Given the description of an element on the screen output the (x, y) to click on. 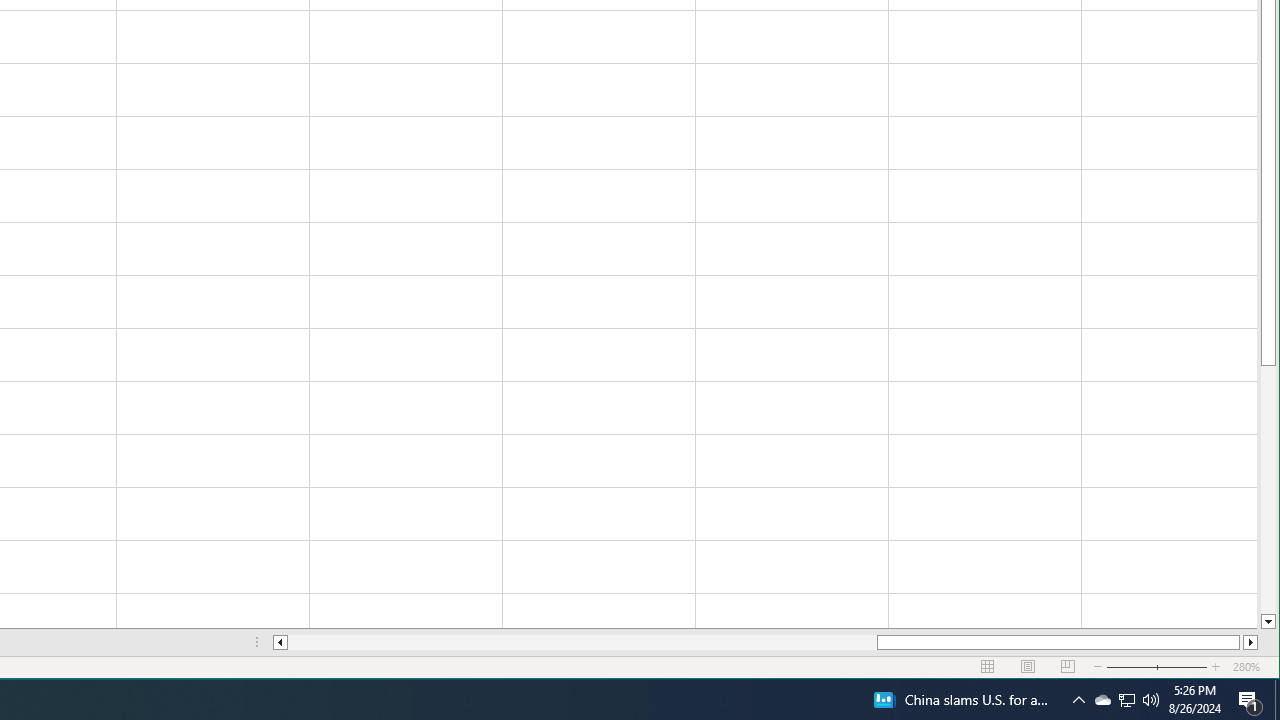
Q2790: 100% (1151, 699)
Action Center, 1 new notification (1126, 699)
User Promoted Notification Area (1102, 699)
Notification Chevron (1250, 699)
